Given the description of an element on the screen output the (x, y) to click on. 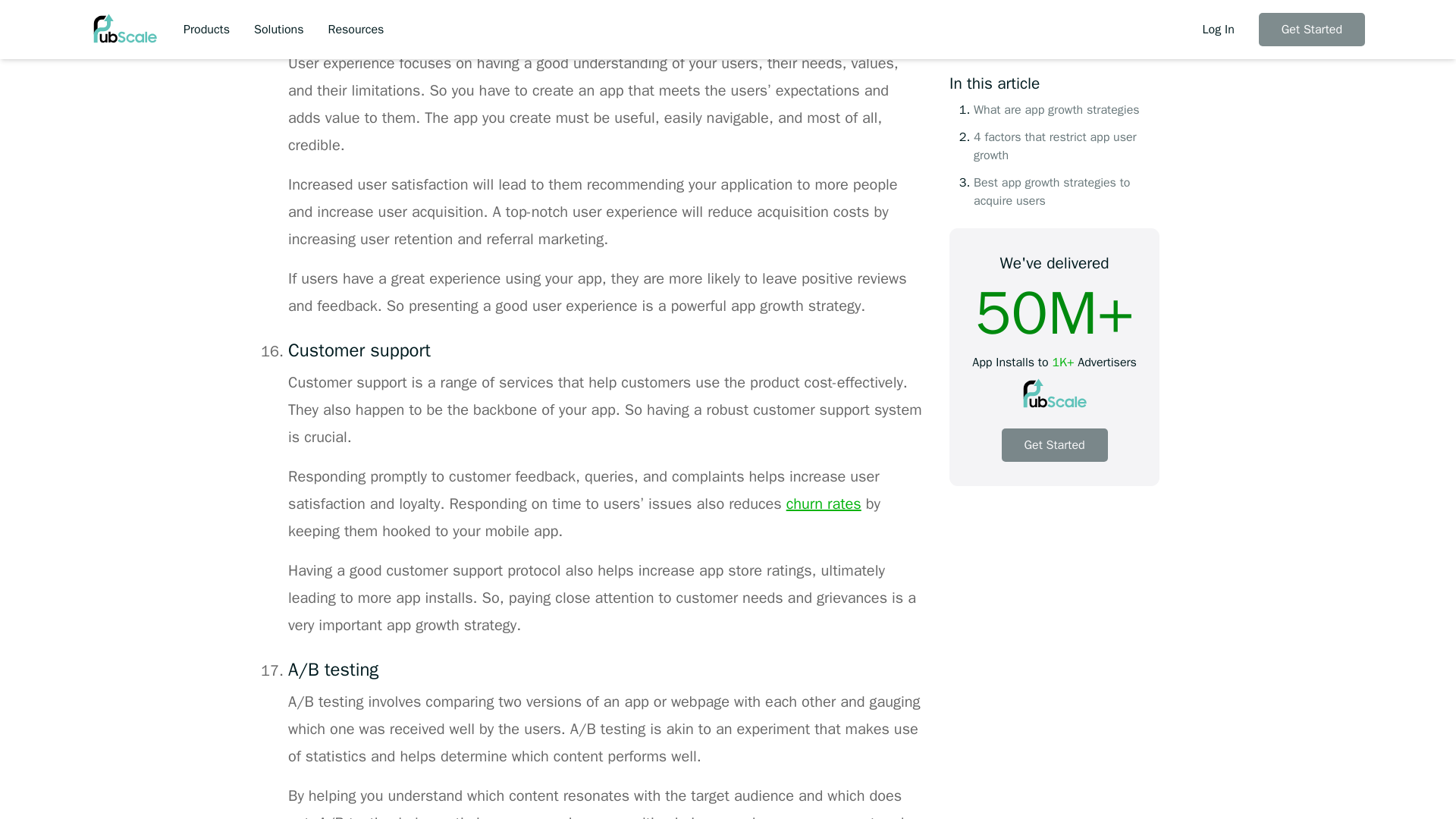
churn rates (823, 503)
